Given the description of an element on the screen output the (x, y) to click on. 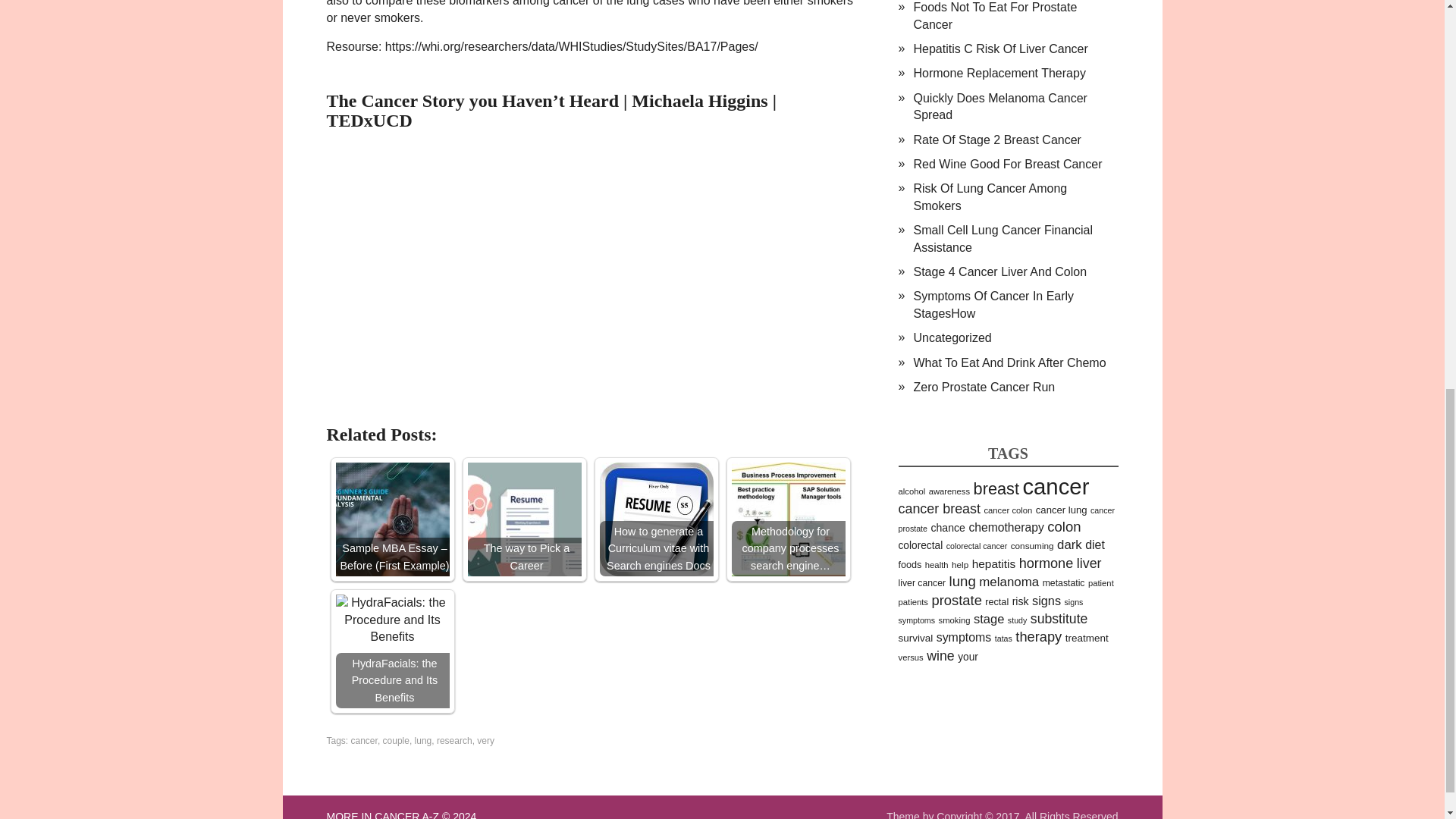
Quickly Does Melanoma Cancer Spread (999, 106)
HydraFacials: the Procedure and Its Benefits (391, 619)
couple (395, 740)
Hepatitis C Risk Of Liver Cancer (999, 48)
How to generate a Curriculum vitae with Search engines Docs (655, 519)
The way to Pick a Career (523, 519)
research (453, 740)
cancer (363, 740)
very (486, 740)
How to generate a Curriculum vitae with Search engines Docs (655, 519)
lung (423, 740)
HydraFacials: the Procedure and Its Benefits (391, 651)
Foods Not To Eat For Prostate Cancer (994, 15)
Hormone Replacement Therapy (998, 72)
